Given the description of an element on the screen output the (x, y) to click on. 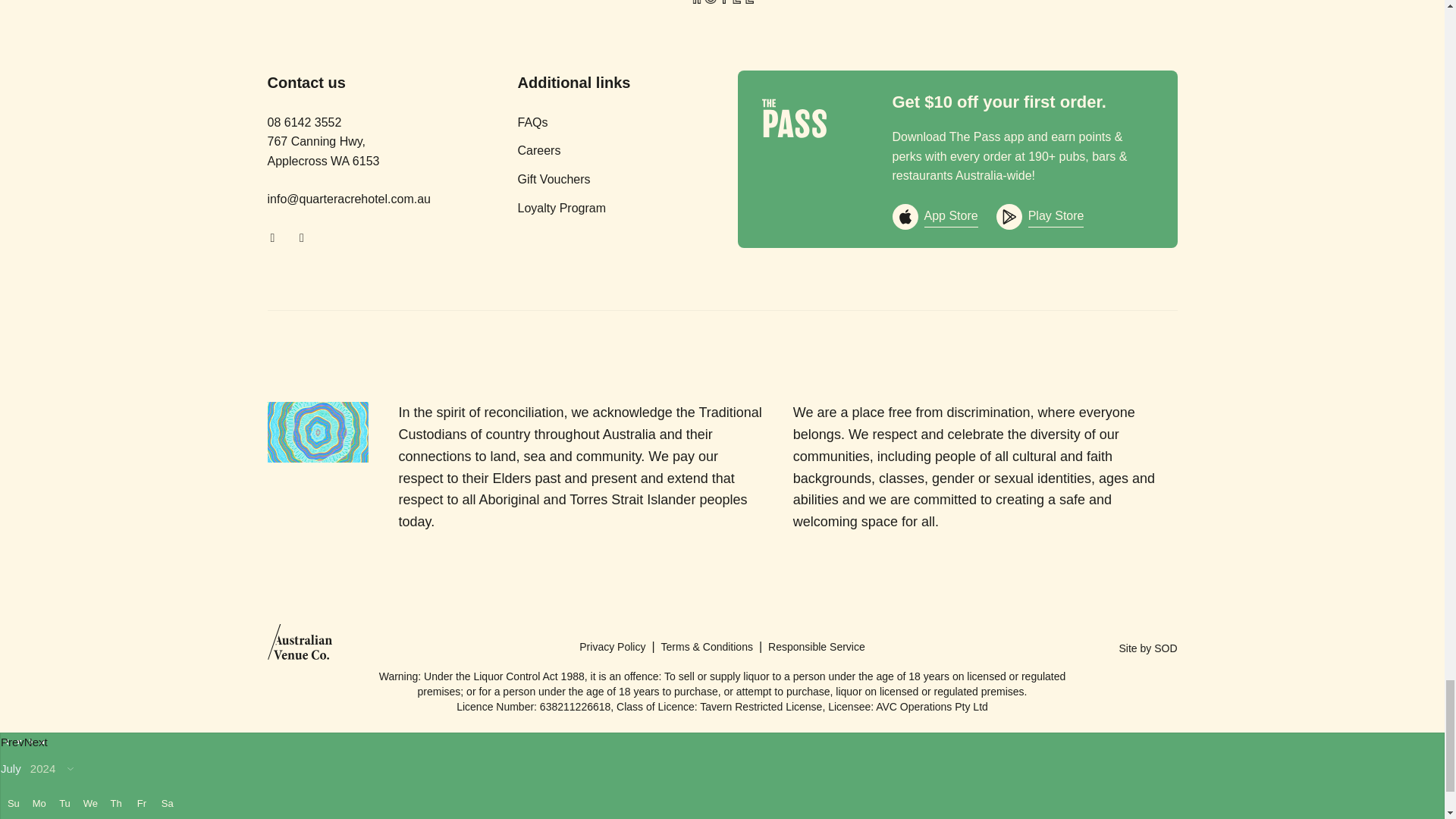
Tuesday (64, 803)
Saturday (167, 803)
Prev (12, 741)
Wednesday (89, 803)
Sunday (13, 803)
Next (36, 741)
Monday (39, 803)
Thursday (116, 803)
